Given the description of an element on the screen output the (x, y) to click on. 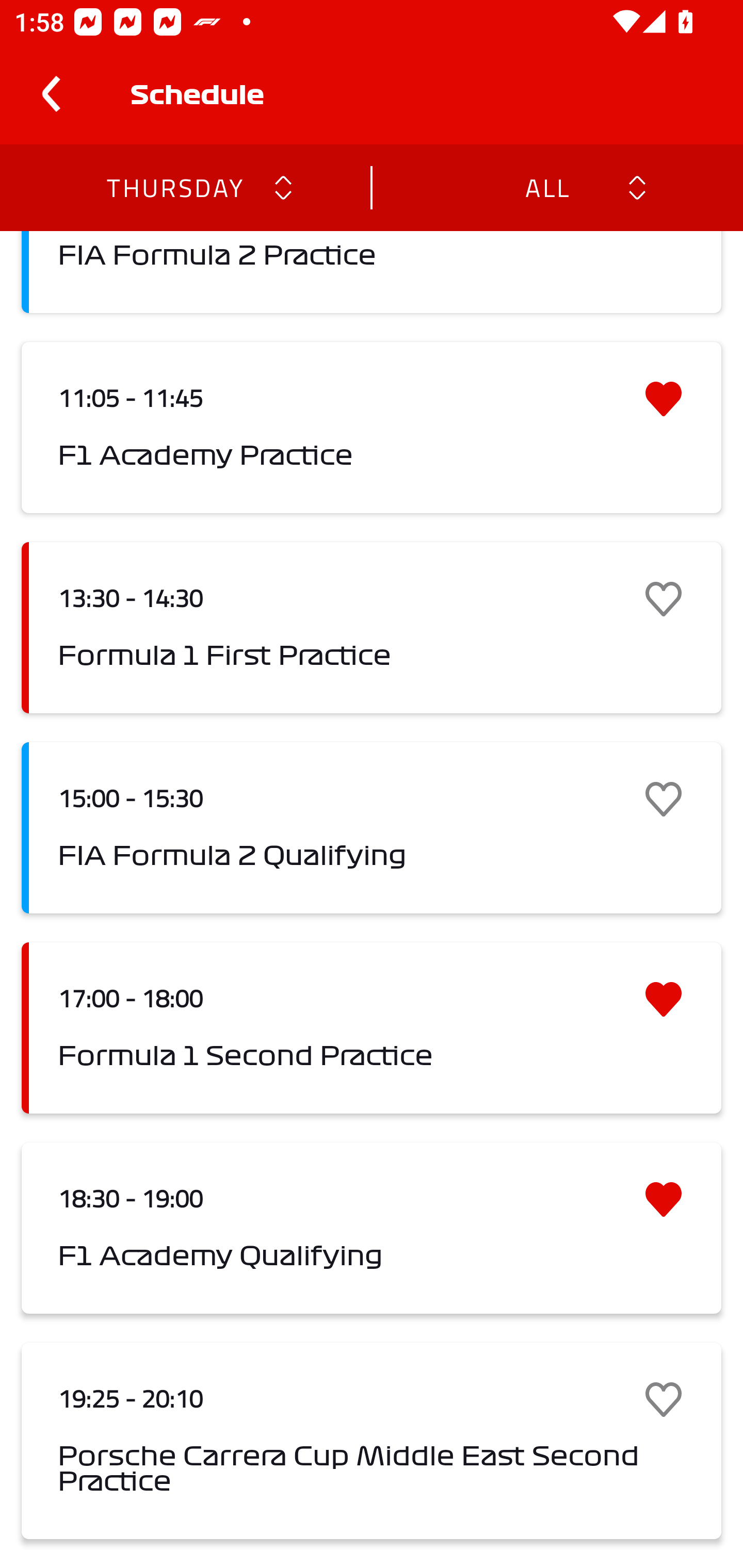
Navigate up (50, 93)
THURSDAY (174, 187)
ALL (546, 187)
FIA Formula 2 Practice (371, 271)
11:05 - 11:45 F1 Academy Practice (371, 426)
13:30 - 14:30 Formula 1 First Practice (371, 627)
15:00 - 15:30 FIA Formula 2 Qualifying (371, 827)
17:00 - 18:00 Formula 1 Second Practice (371, 1027)
18:30 - 19:00 F1 Academy Qualifying (371, 1228)
